Given the description of an element on the screen output the (x, y) to click on. 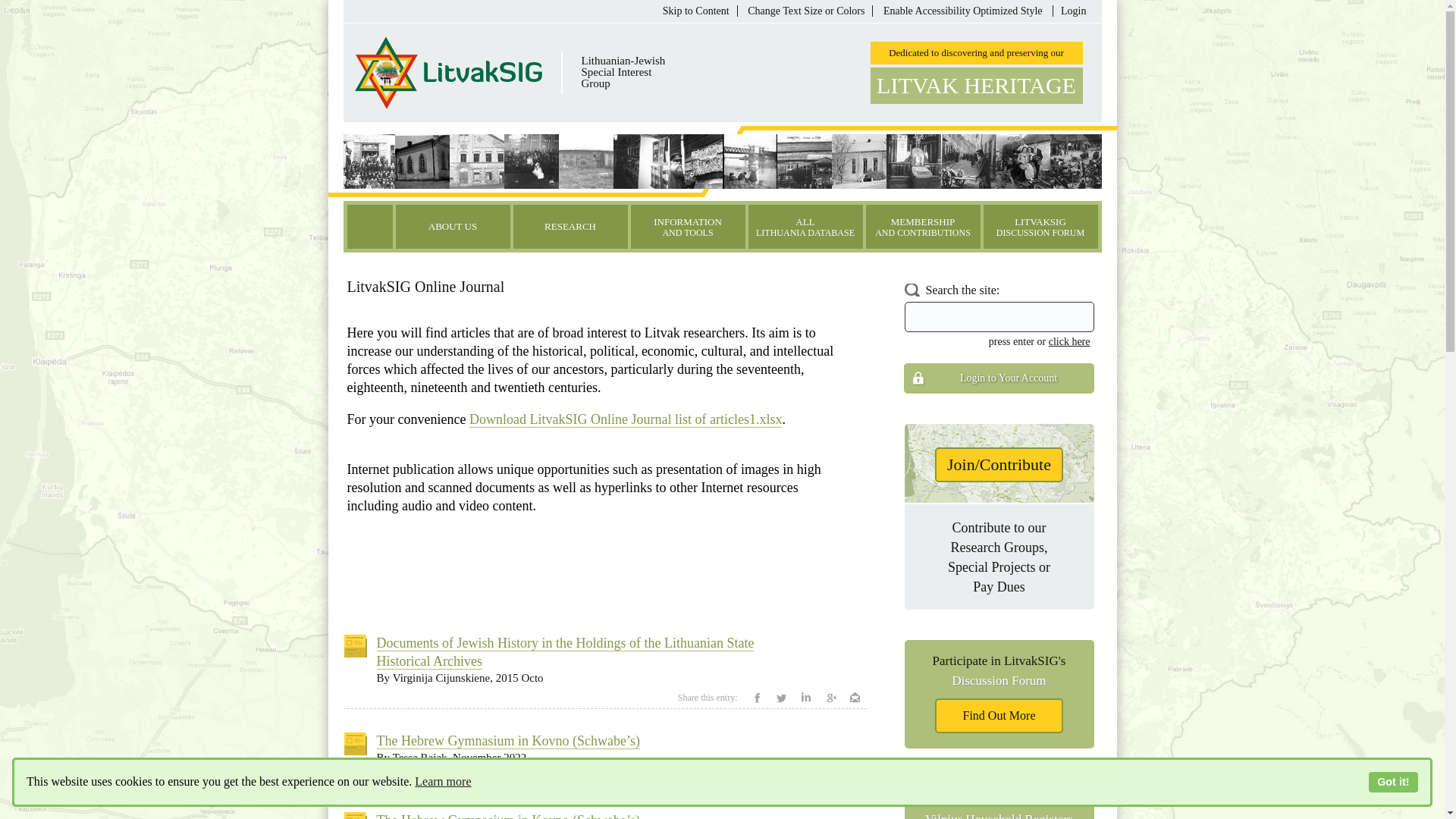
Got it! (1393, 782)
Login (1072, 10)
Go to the home page (370, 226)
Learn more (442, 782)
Enable Accessibility Optimized Style (966, 10)
Change Text Size or Colors (810, 10)
